Given the description of an element on the screen output the (x, y) to click on. 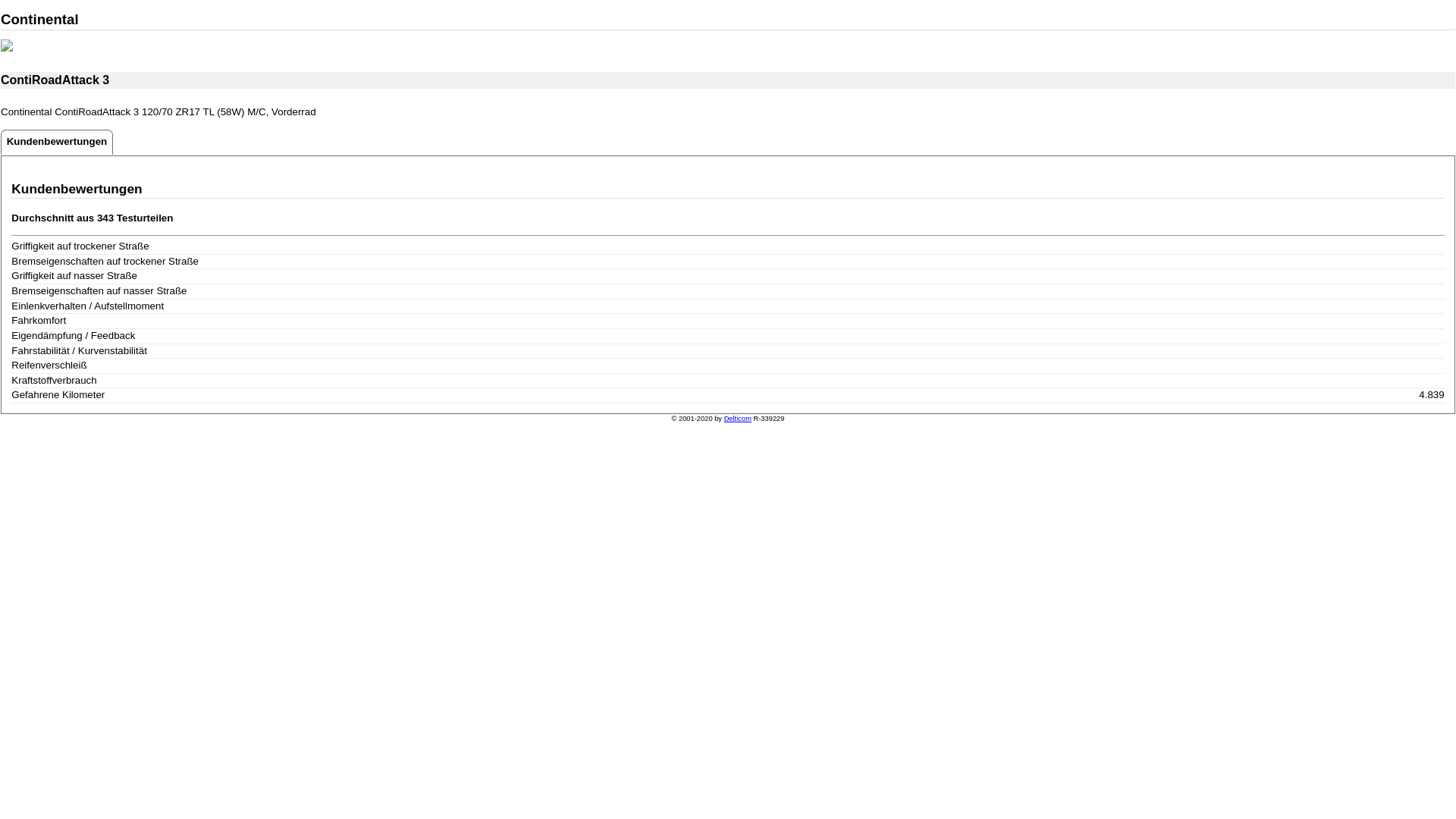
Delticom Element type: text (737, 418)
